Given the description of an element on the screen output the (x, y) to click on. 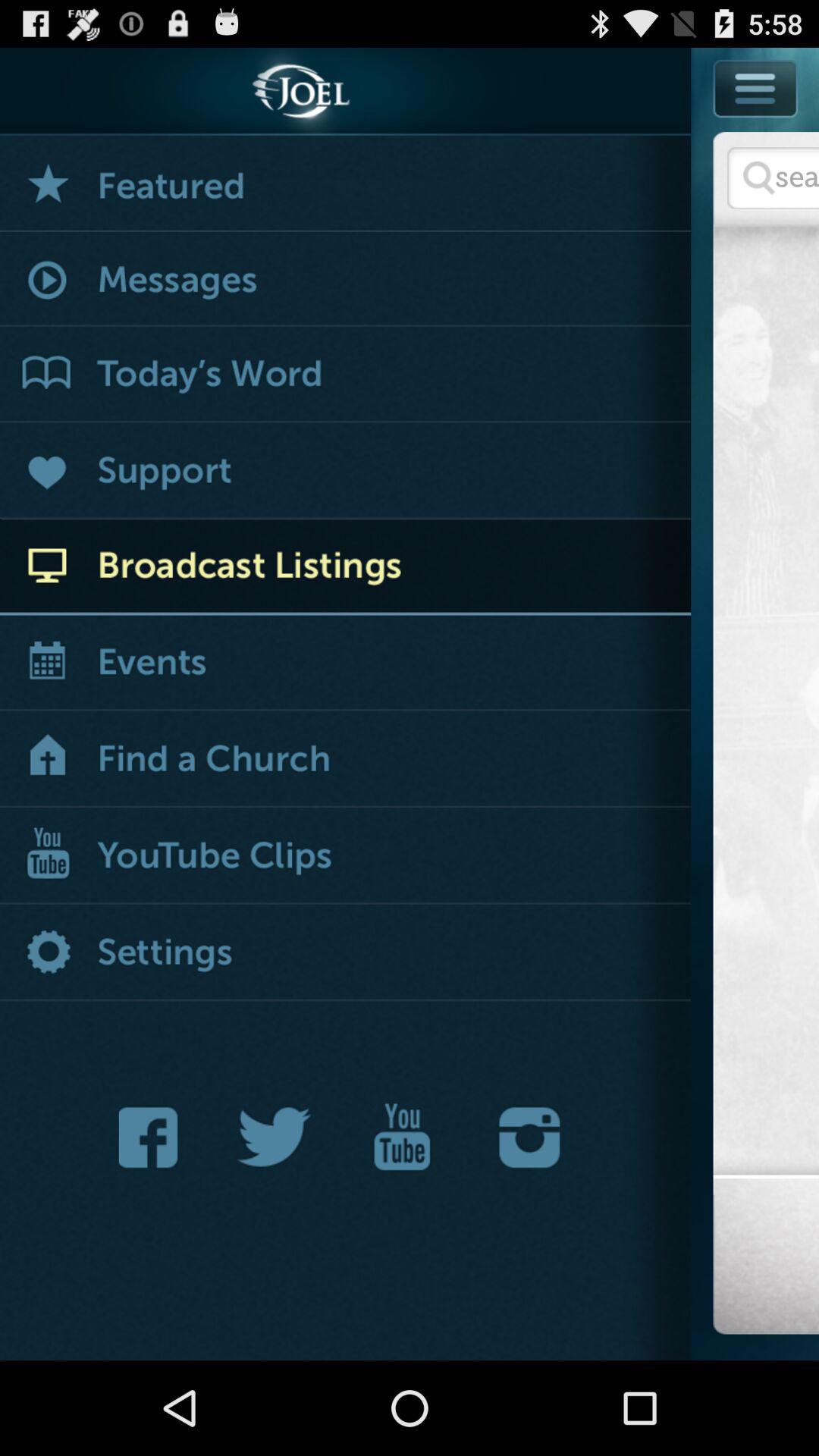
play messages (345, 280)
